Given the description of an element on the screen output the (x, y) to click on. 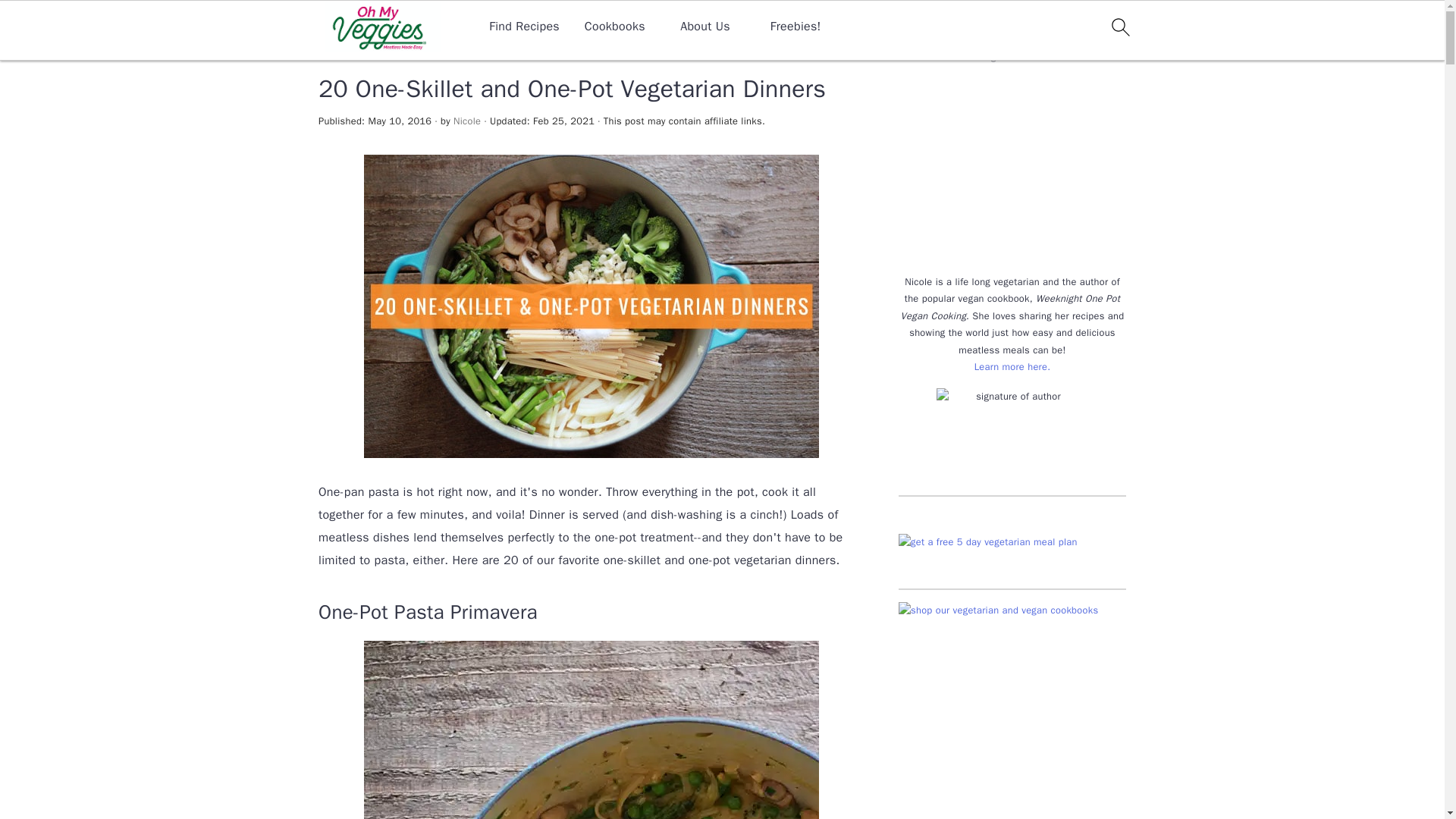
search icon (1119, 26)
Cookbooks (615, 26)
Freebies! (795, 26)
Find Recipes (524, 26)
About Us (704, 26)
